Given the description of an element on the screen output the (x, y) to click on. 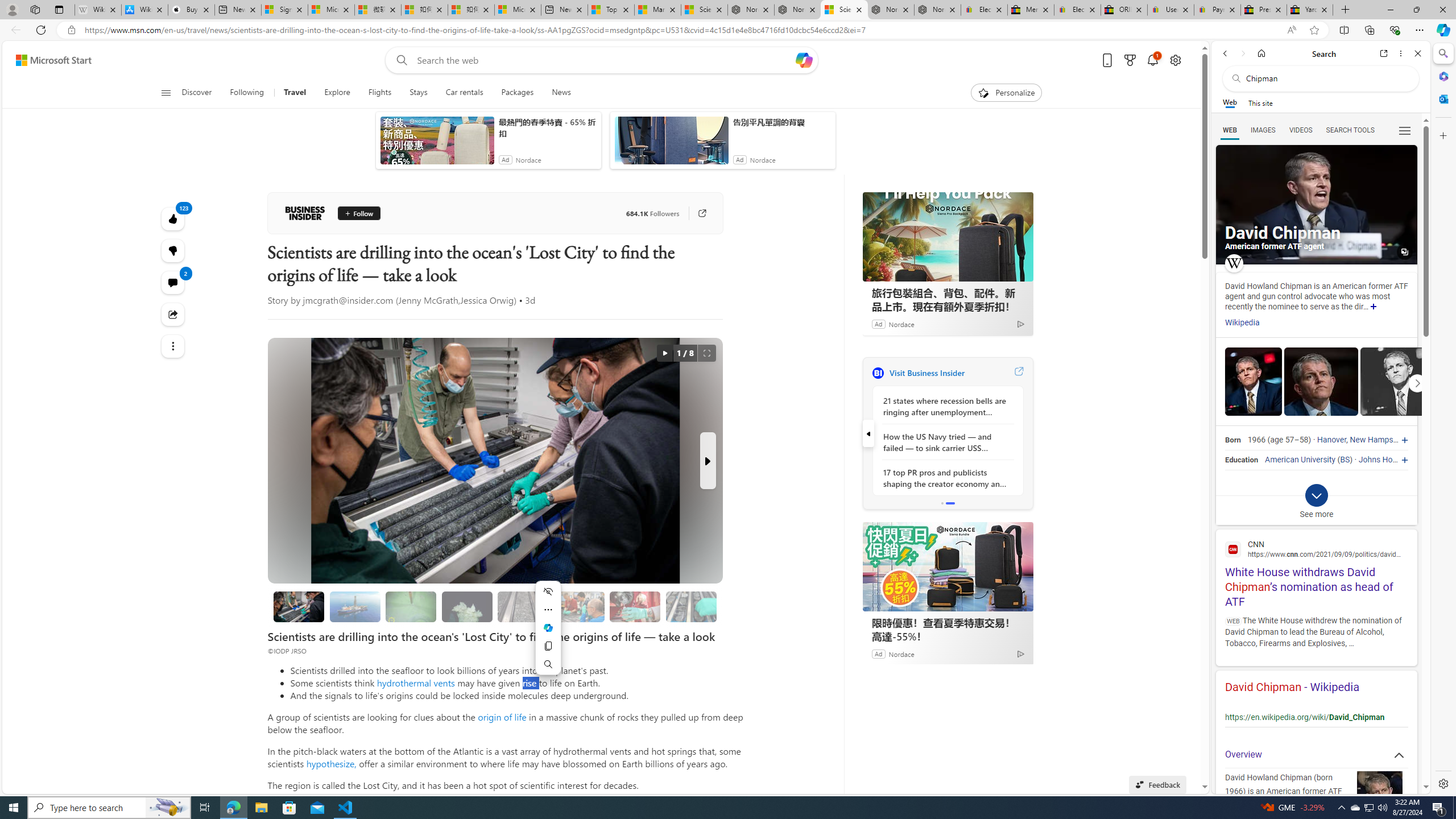
Top Stories - MSN (610, 9)
Show more (1373, 307)
Web search (398, 60)
autorotate button (664, 352)
Copy (547, 646)
More actions (547, 609)
Class: progress (691, 604)
